Given the description of an element on the screen output the (x, y) to click on. 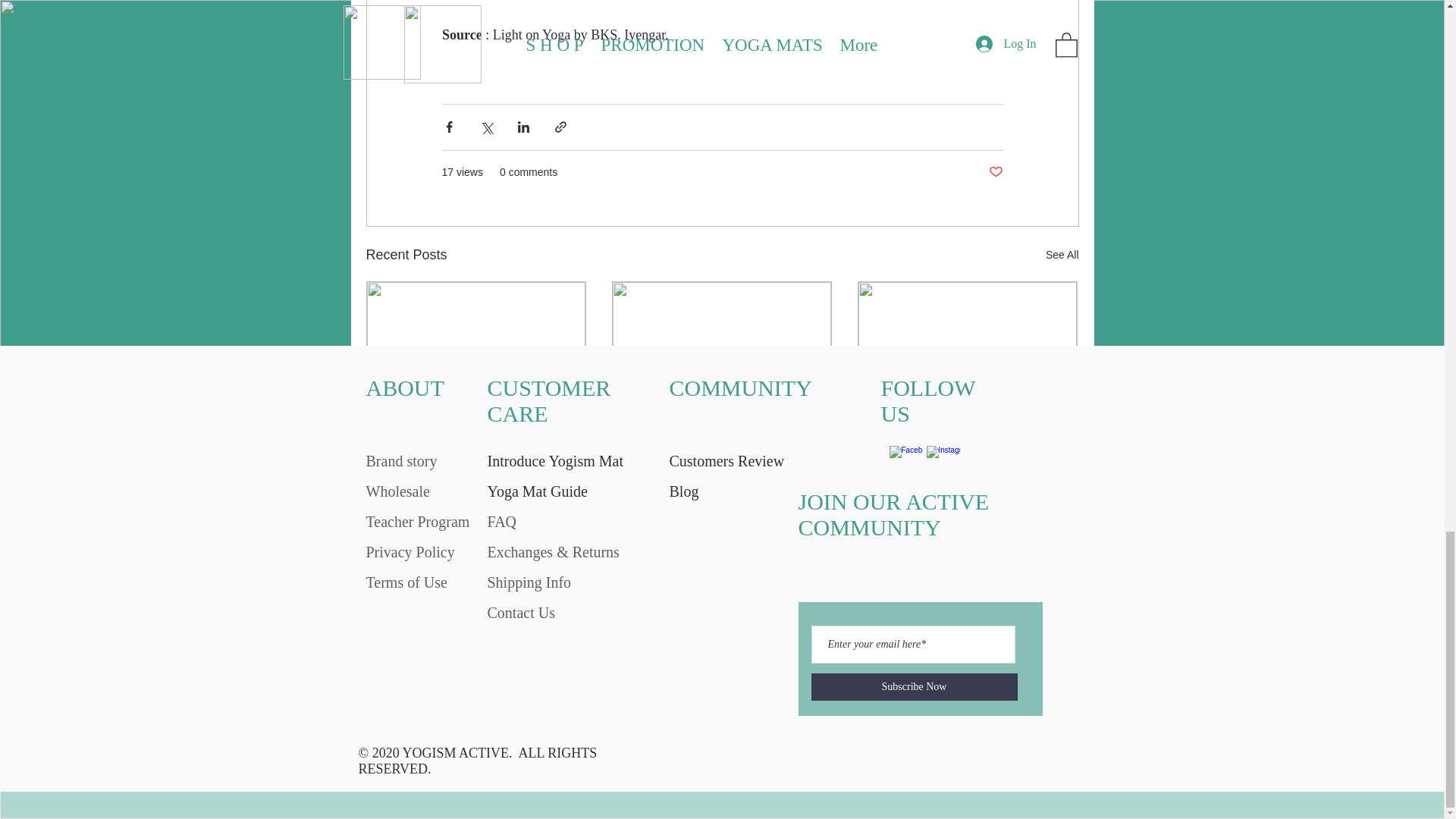
Wholesale (397, 491)
Post not marked as liked (1050, 491)
See All (1061, 255)
Brand story (400, 460)
0 (926, 491)
Teacher Program (416, 521)
Post not marked as liked (558, 491)
Post not marked as liked (804, 491)
Post not marked as liked (995, 172)
0 (681, 491)
0 (440, 491)
